Given the description of an element on the screen output the (x, y) to click on. 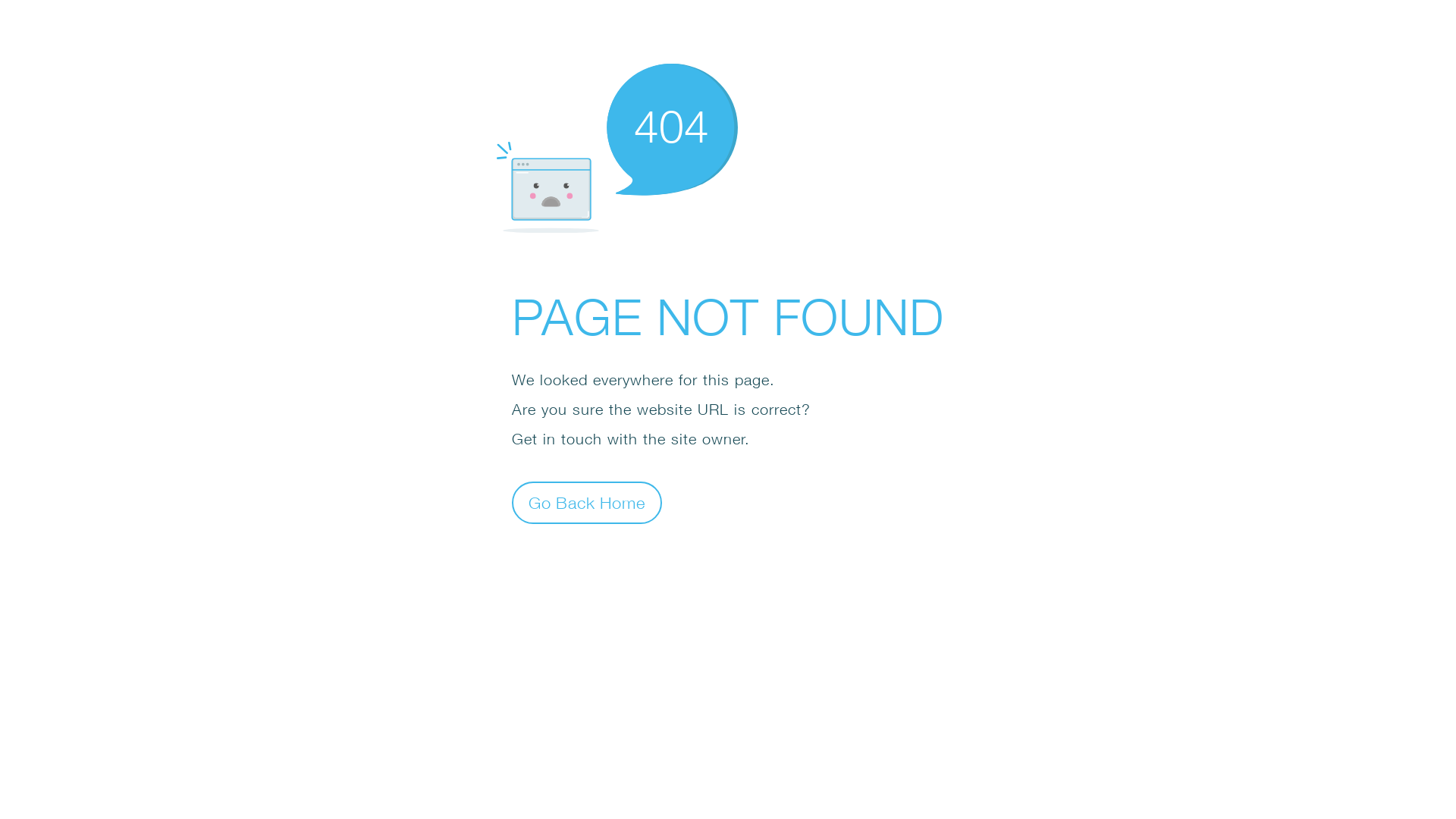
Go Back Home Element type: text (586, 502)
